Given the description of an element on the screen output the (x, y) to click on. 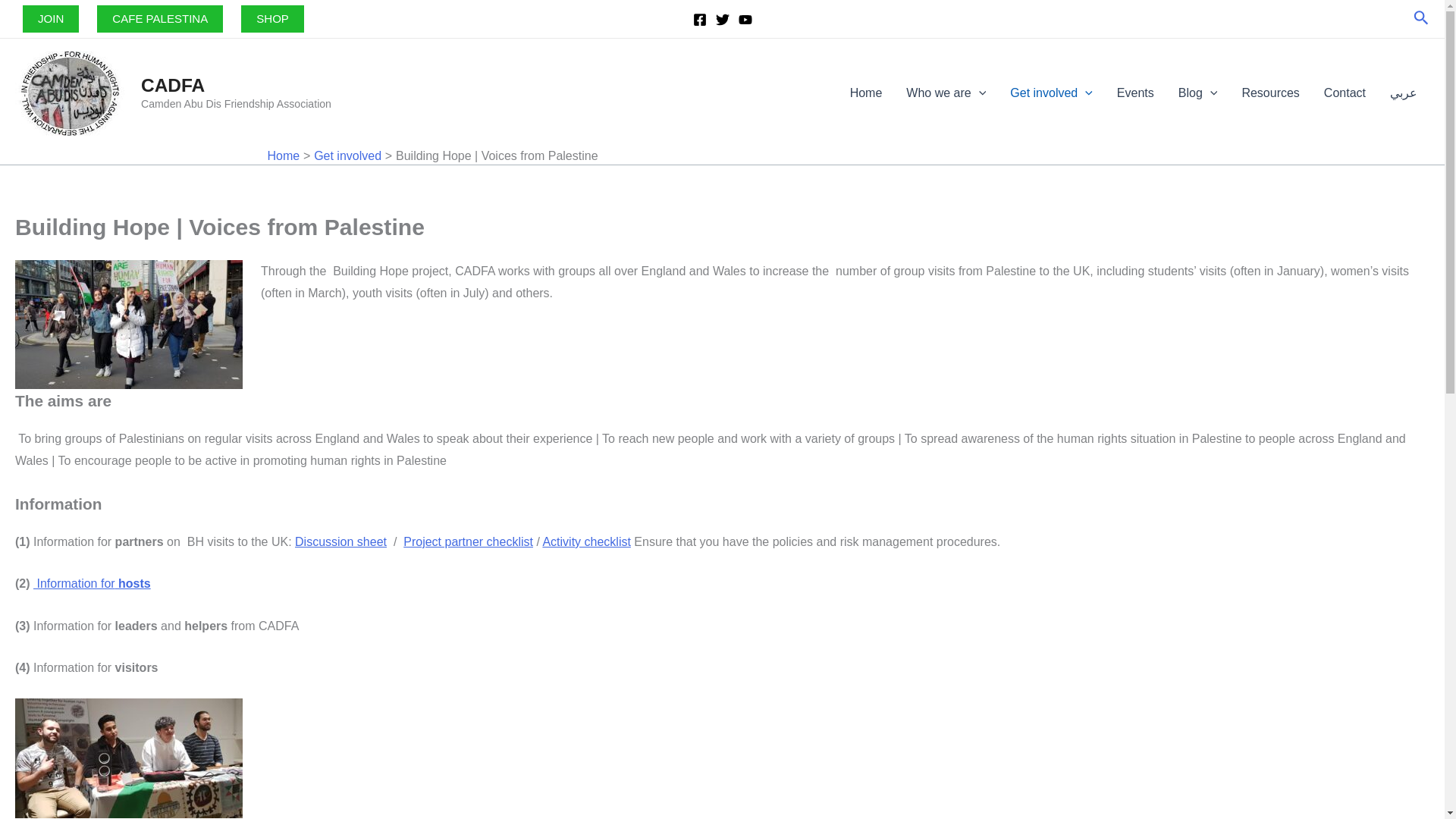
Get involved (1051, 92)
SHOP (272, 17)
Who we are (945, 92)
CADFA (173, 85)
Blog (1198, 92)
Events (1135, 92)
JOIN (50, 17)
Resources (1269, 92)
Home (866, 92)
CAFE PALESTINA (159, 17)
